Given the description of an element on the screen output the (x, y) to click on. 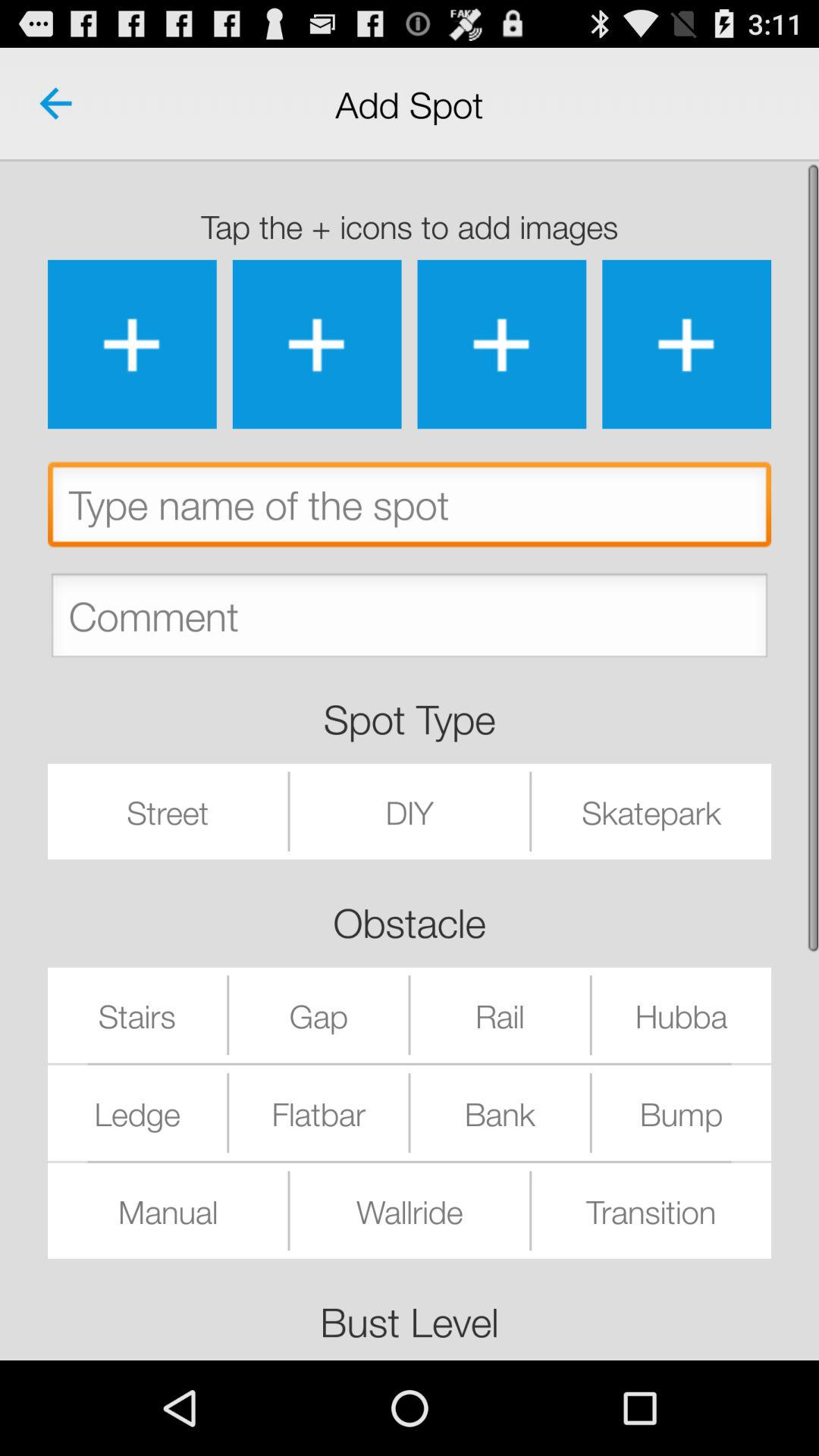
turn on the bump icon (681, 1112)
